Given the description of an element on the screen output the (x, y) to click on. 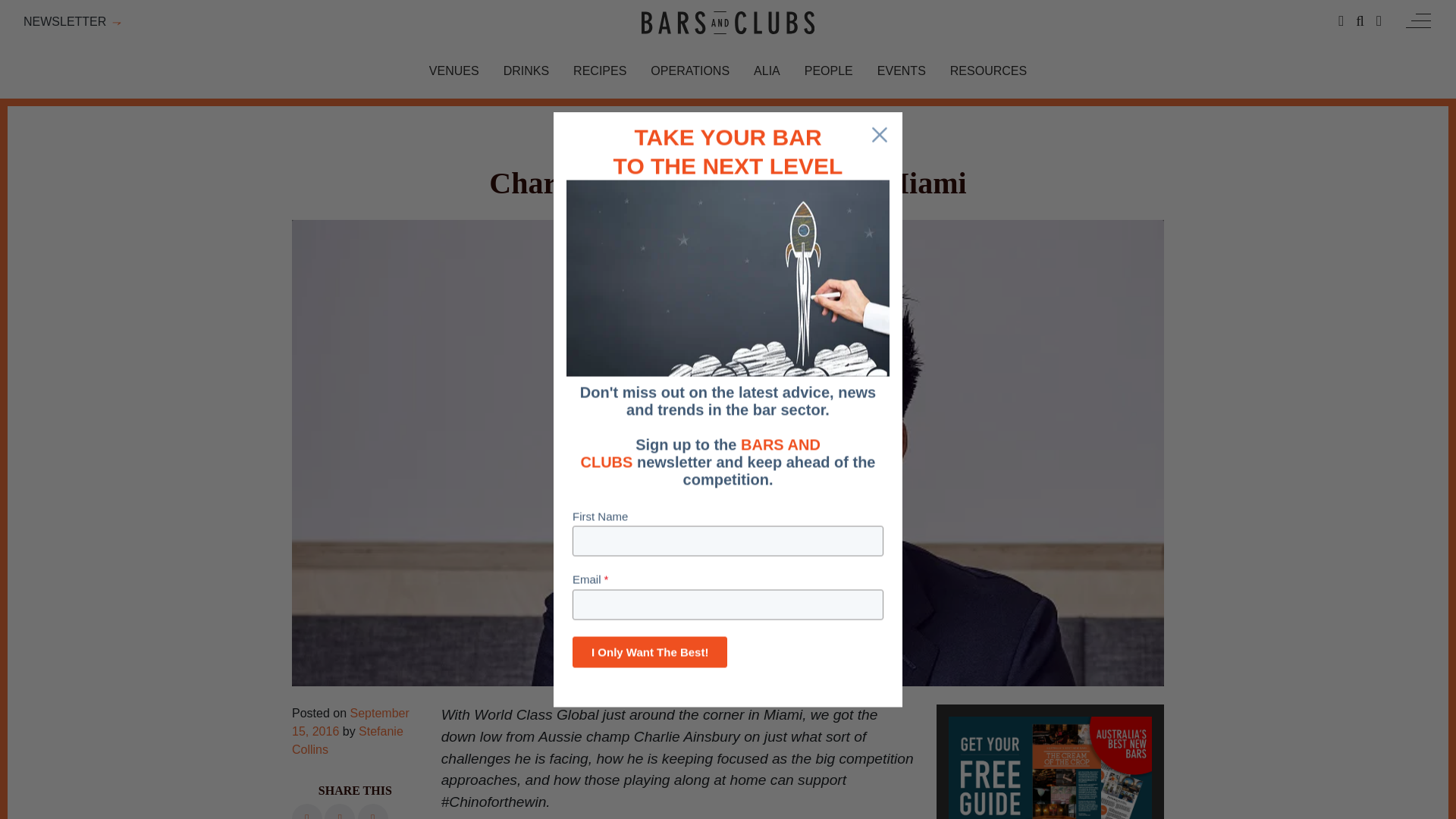
People (829, 71)
EVENTS (901, 71)
OPERATIONS (689, 71)
Drinks (525, 71)
ALIA (767, 71)
Events (901, 71)
PEOPLE (829, 71)
VENUES (454, 71)
Recipes (599, 71)
Venues (454, 71)
Operations (689, 71)
RECIPES (599, 71)
ALIA (767, 71)
RESOURCES (988, 71)
Resources (988, 71)
